Given the description of an element on the screen output the (x, y) to click on. 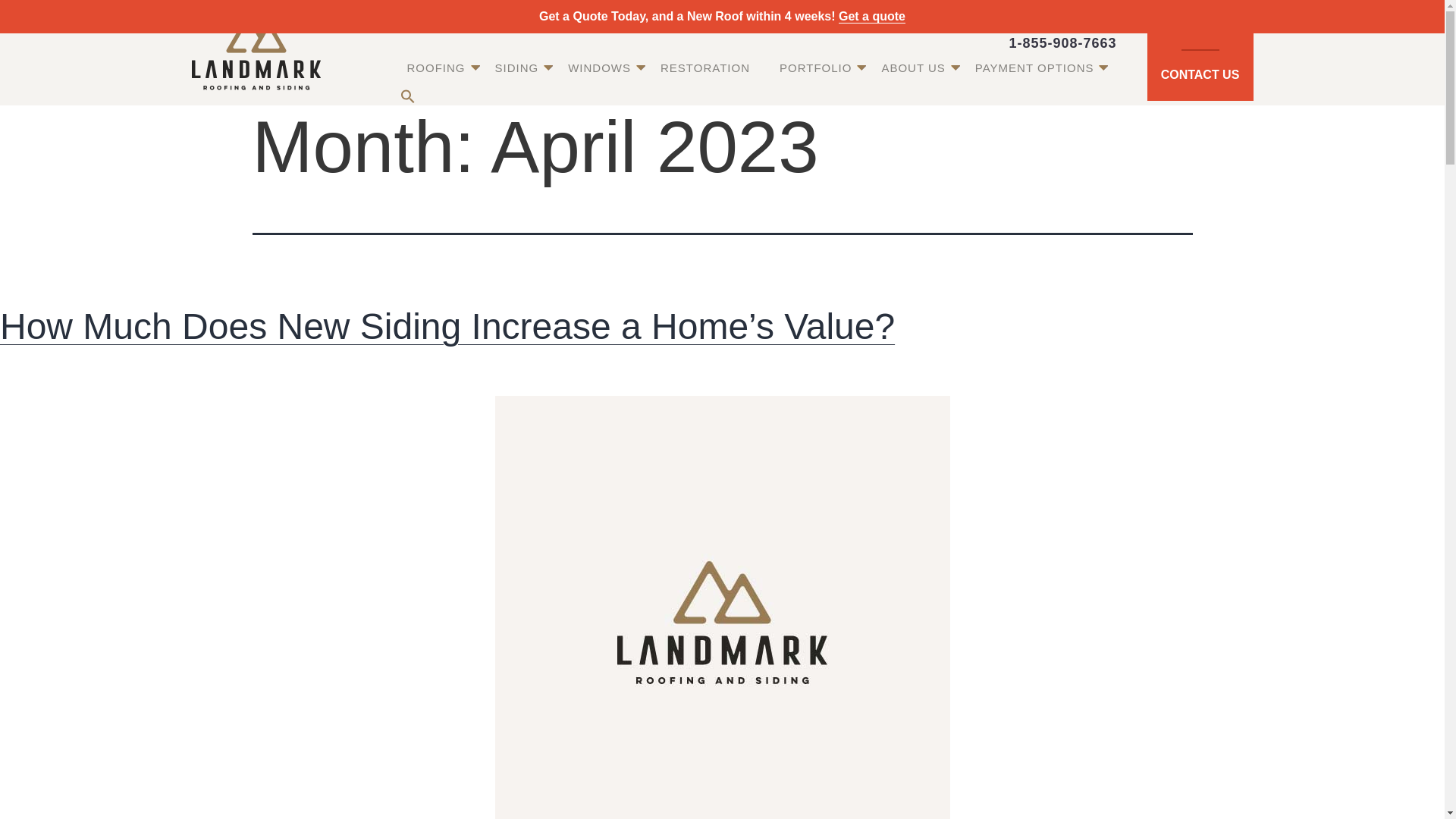
Get a quote (871, 15)
